Given the description of an element on the screen output the (x, y) to click on. 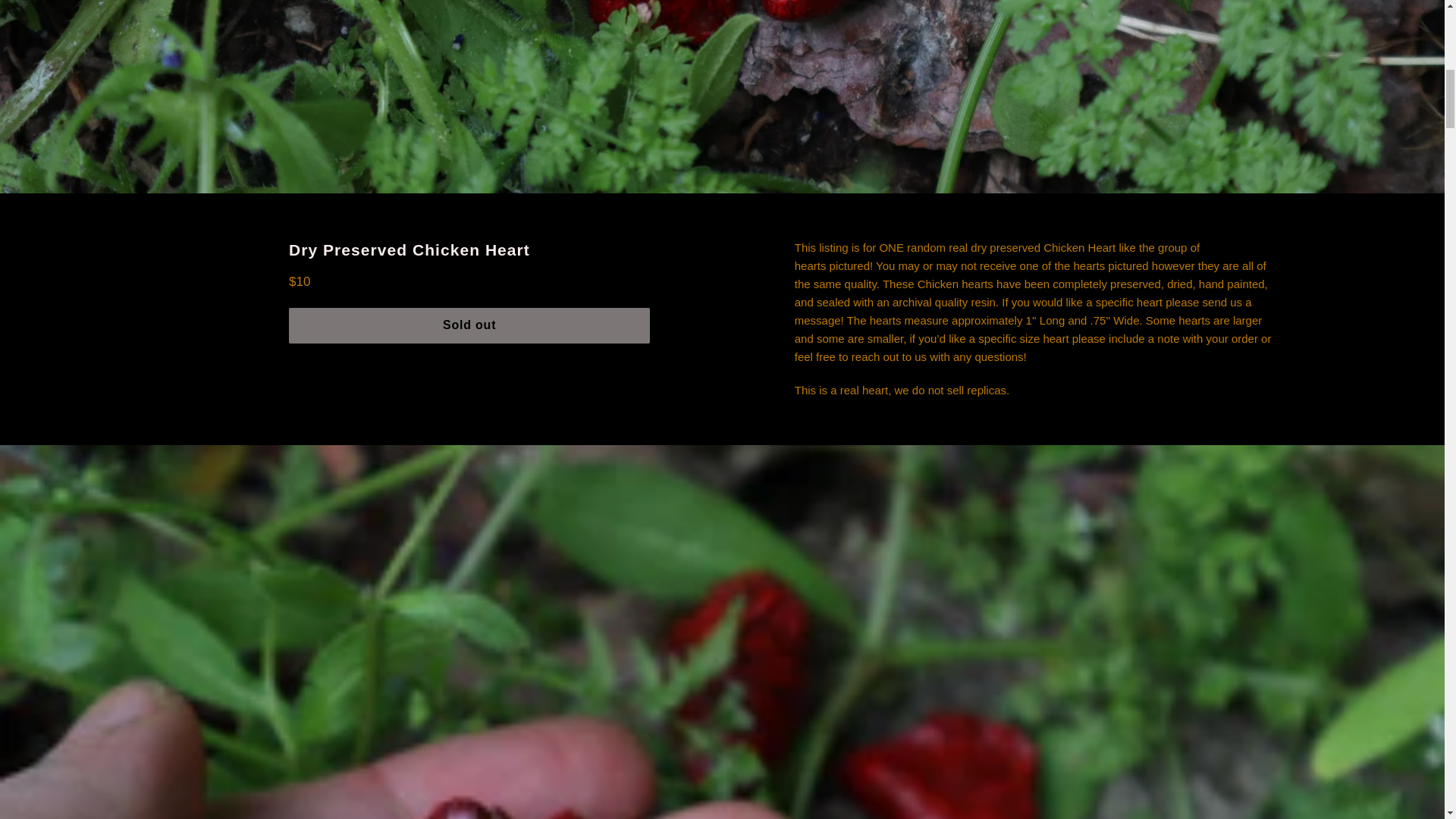
Sold out (468, 325)
